Given the description of an element on the screen output the (x, y) to click on. 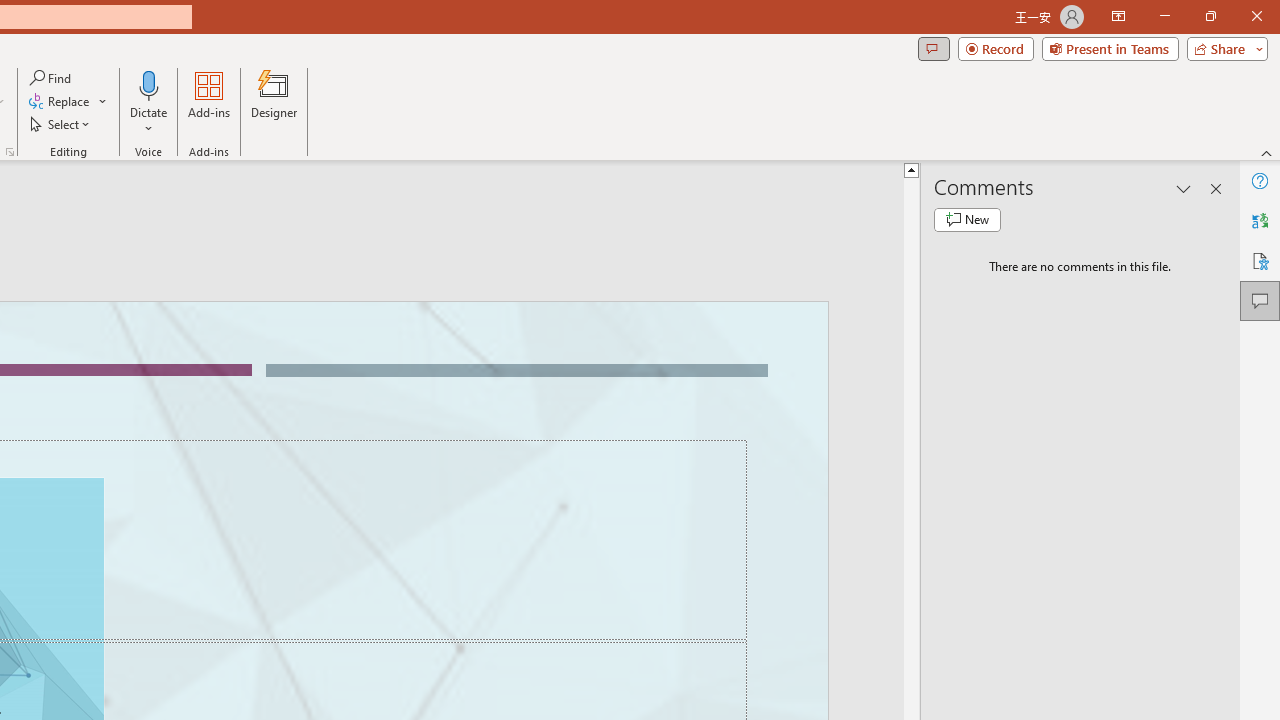
Wang Yian (406, 672)
Class: actions-container (94, 265)
Class: ___1lmltc5 f1agt3bx f12qytpq (1092, 217)
